Given the description of an element on the screen output the (x, y) to click on. 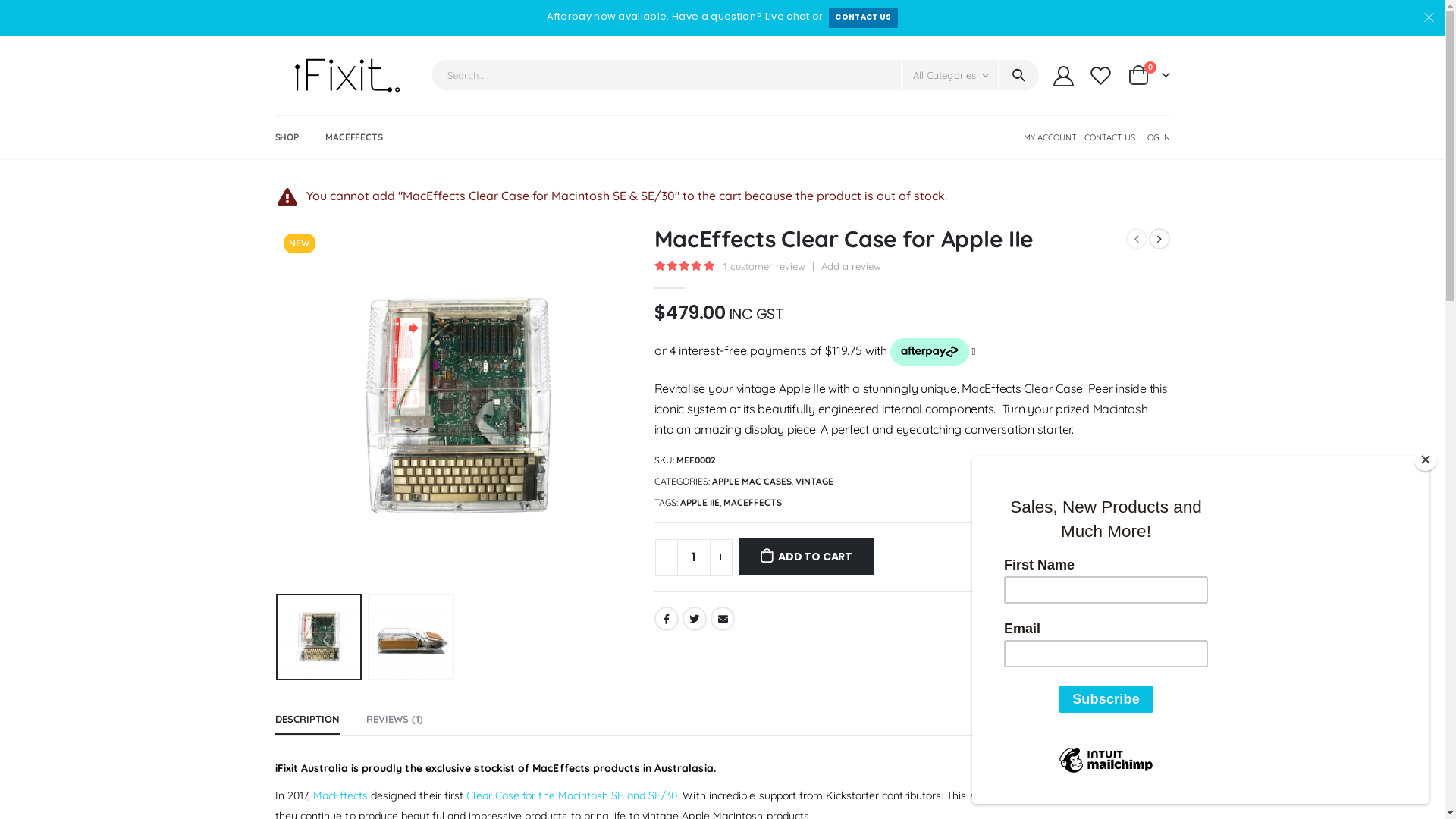
Twitter Element type: text (694, 618)
My Account Element type: hover (1063, 75)
LOG IN Element type: text (1154, 137)
Search Element type: hover (1018, 74)
MacEffects Element type: text (340, 795)
Wishlist Element type: hover (1100, 75)
+ Element type: text (720, 557)
1 customer review Element type: text (767, 266)
APPLE MAC CASES Element type: text (750, 481)
- Element type: text (666, 557)
MY ACCOUNT Element type: text (1049, 137)
maceffects-clear-case-iie-top Element type: hover (457, 406)
VINTAGE Element type: text (813, 481)
MACEFFECTS Element type: text (353, 137)
CONTACT US Element type: text (1108, 137)
CONTACT US Element type: text (862, 17)
Clear Case for the Macintosh SE and SE/30 Element type: text (571, 795)
ADD TO CART Element type: text (805, 556)
Add a review Element type: text (851, 266)
Email Element type: text (722, 618)
Facebook Element type: text (665, 618)
SHOP Element type: text (286, 137)
Qty Element type: hover (692, 557)
APPLE IIE Element type: text (698, 502)
MACEFFECTS Element type: text (752, 502)
